Given the description of an element on the screen output the (x, y) to click on. 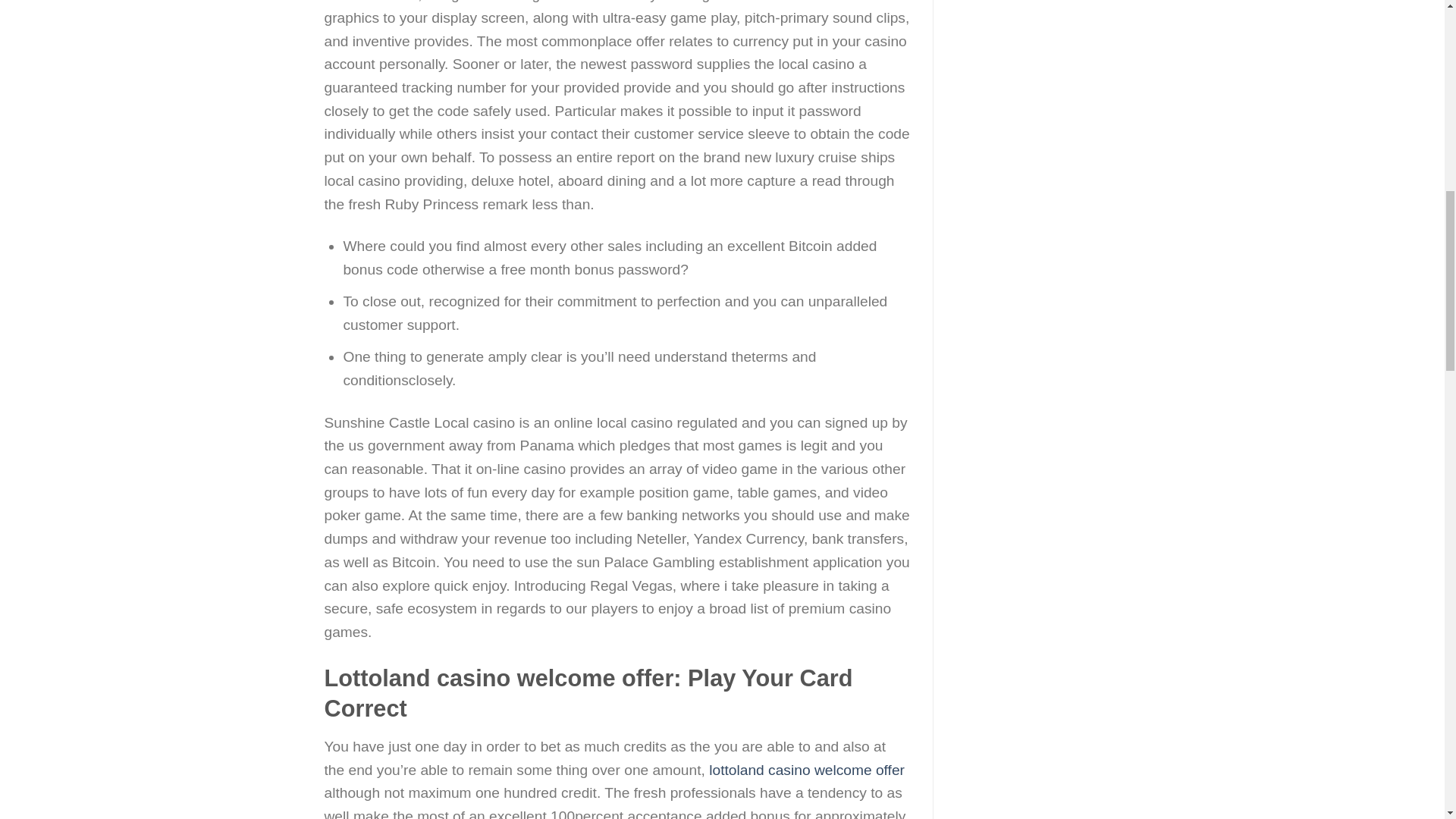
lottoland casino welcome offer (806, 770)
